Given the description of an element on the screen output the (x, y) to click on. 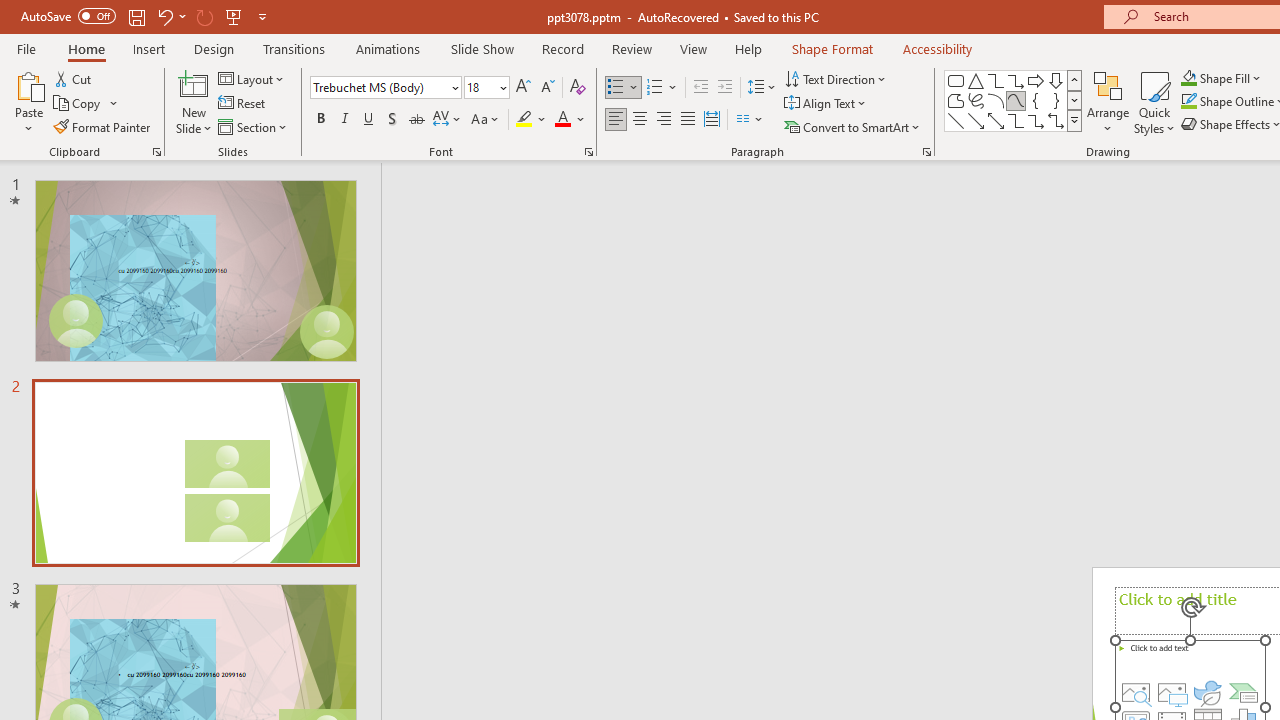
Shape Fill Dark Green, Accent 2 (1188, 78)
Stock Images (1136, 692)
